Given the description of an element on the screen output the (x, y) to click on. 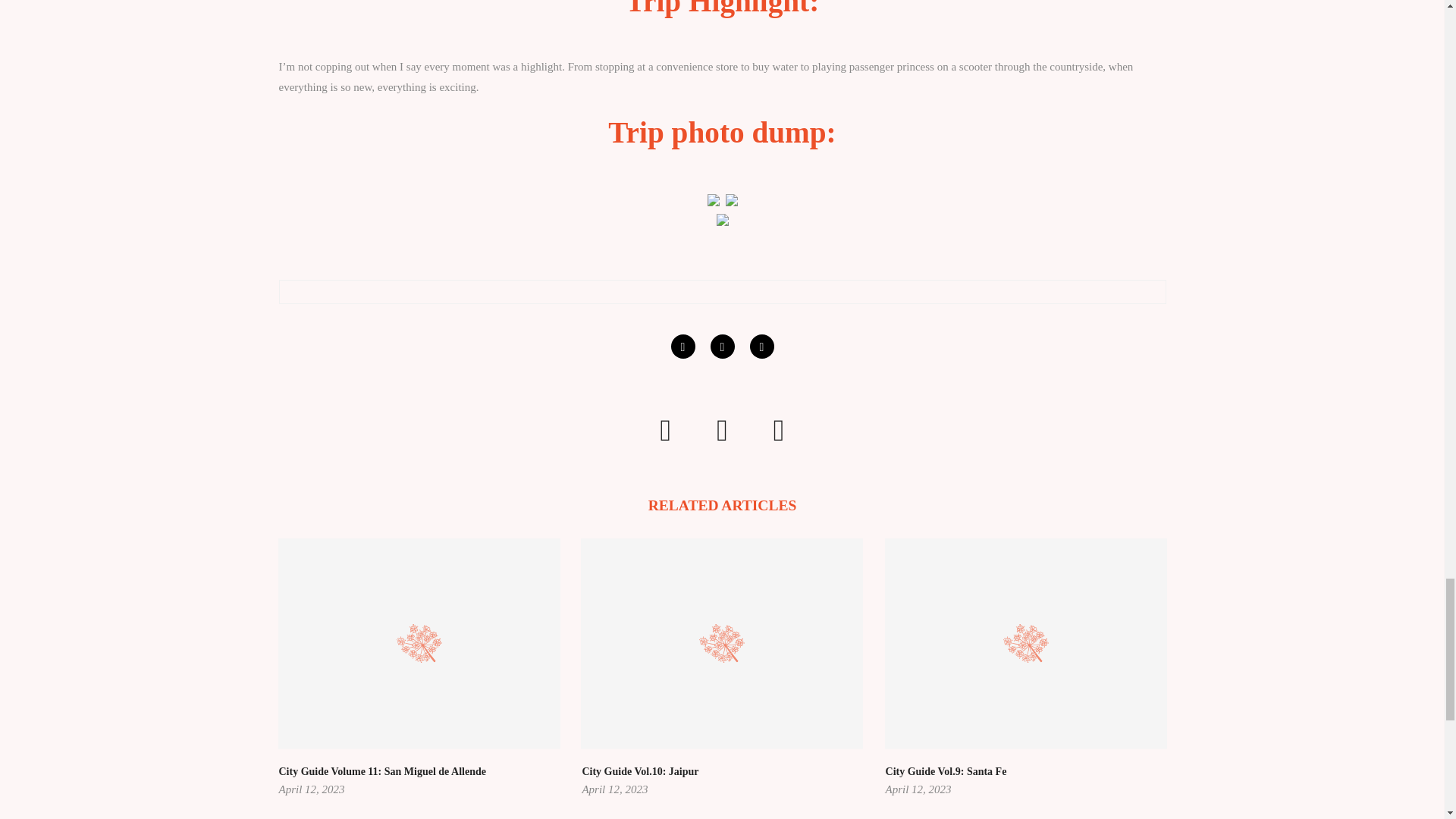
City Guide Vol.9: Santa Fe (946, 771)
City Guide Volume 11: San Miguel de Allende (382, 771)
City Guide Vol.10: Jaipur (639, 771)
